Given the description of an element on the screen output the (x, y) to click on. 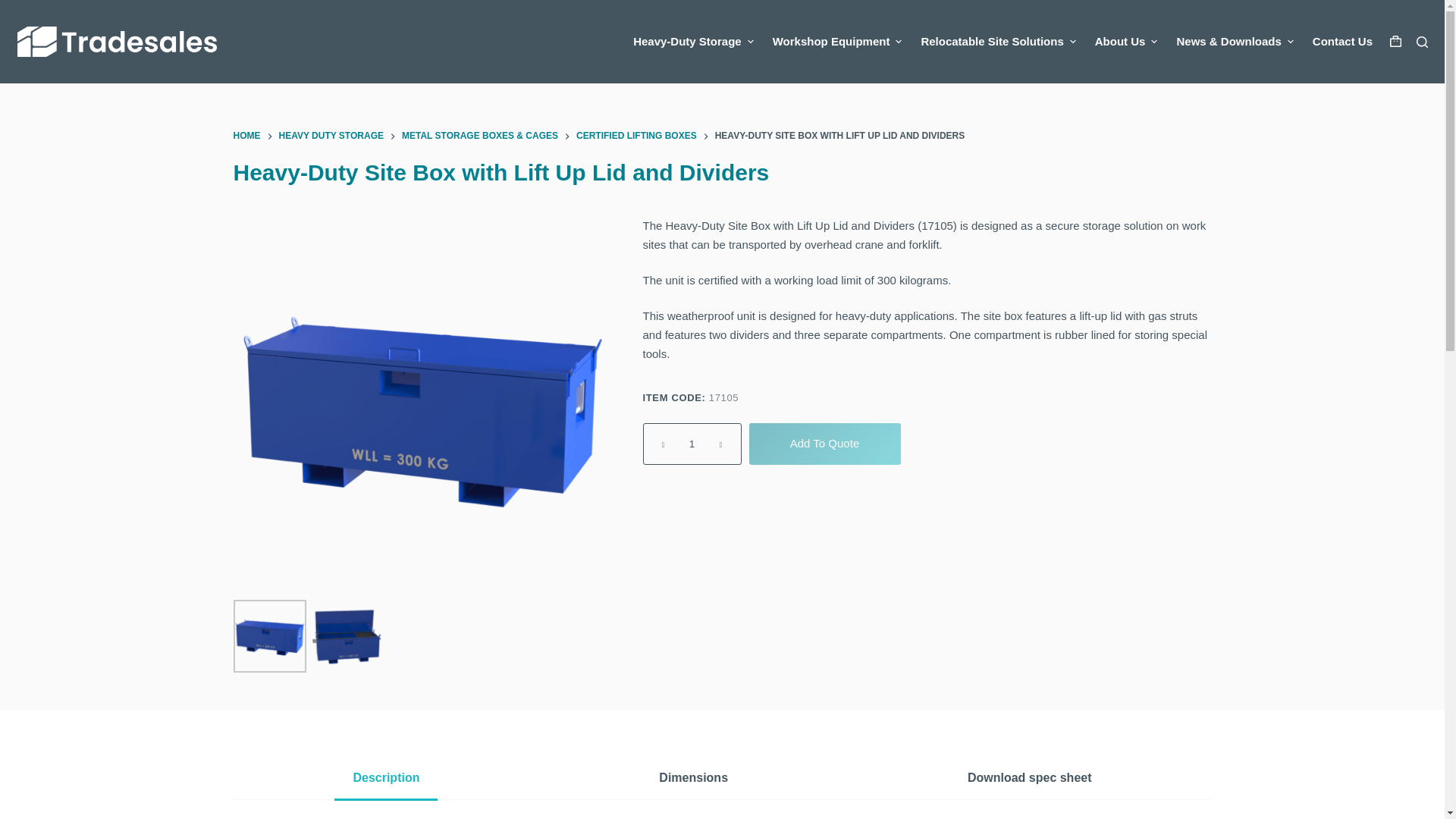
17105-3.png (344, 635)
1 (692, 444)
Heavy-Duty Site Box with Lift Up Lid and Dividers (721, 172)
17105-1.png (268, 635)
Skip to content (15, 7)
